Given the description of an element on the screen output the (x, y) to click on. 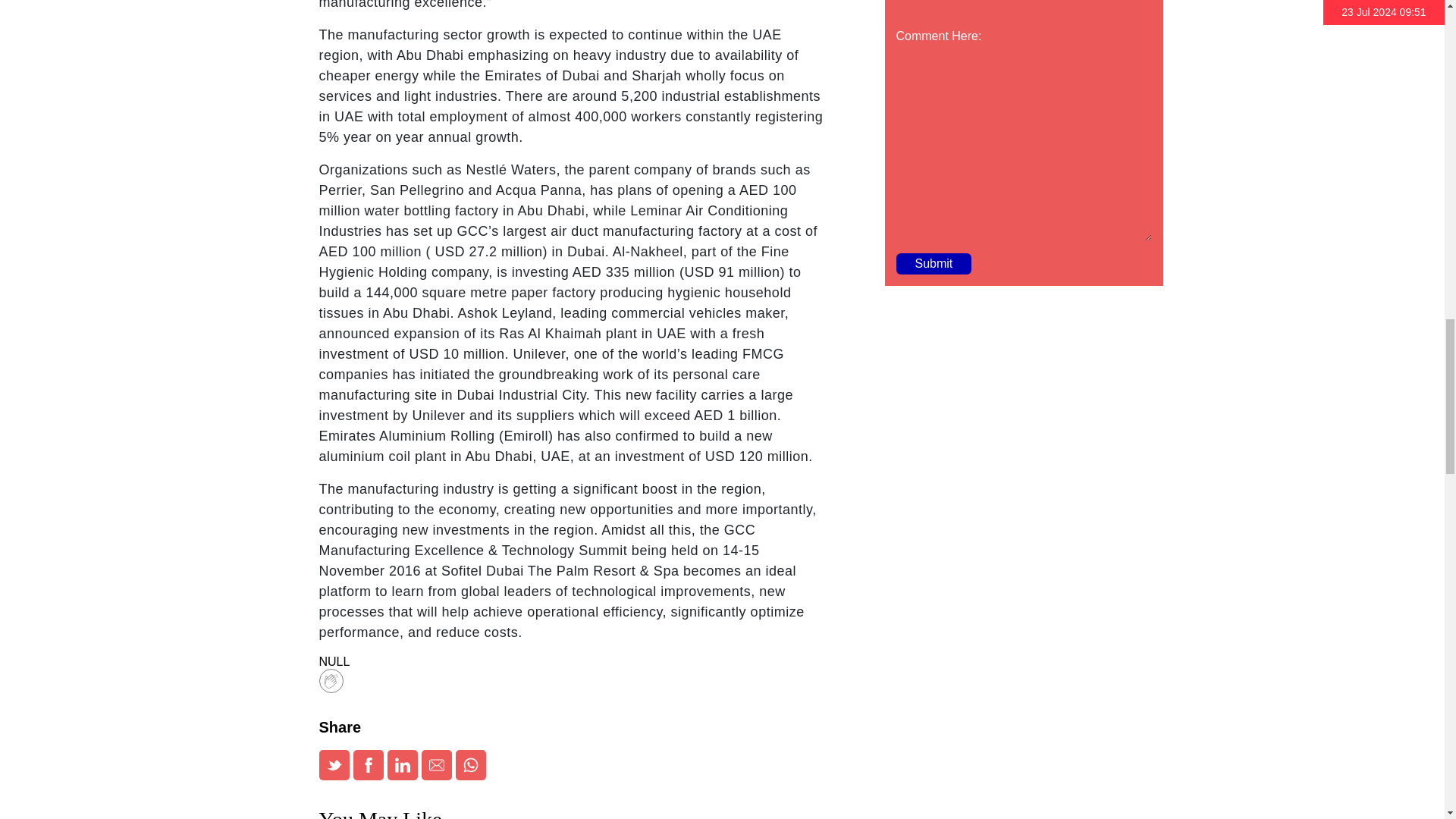
Submit (934, 263)
